Given the description of an element on the screen output the (x, y) to click on. 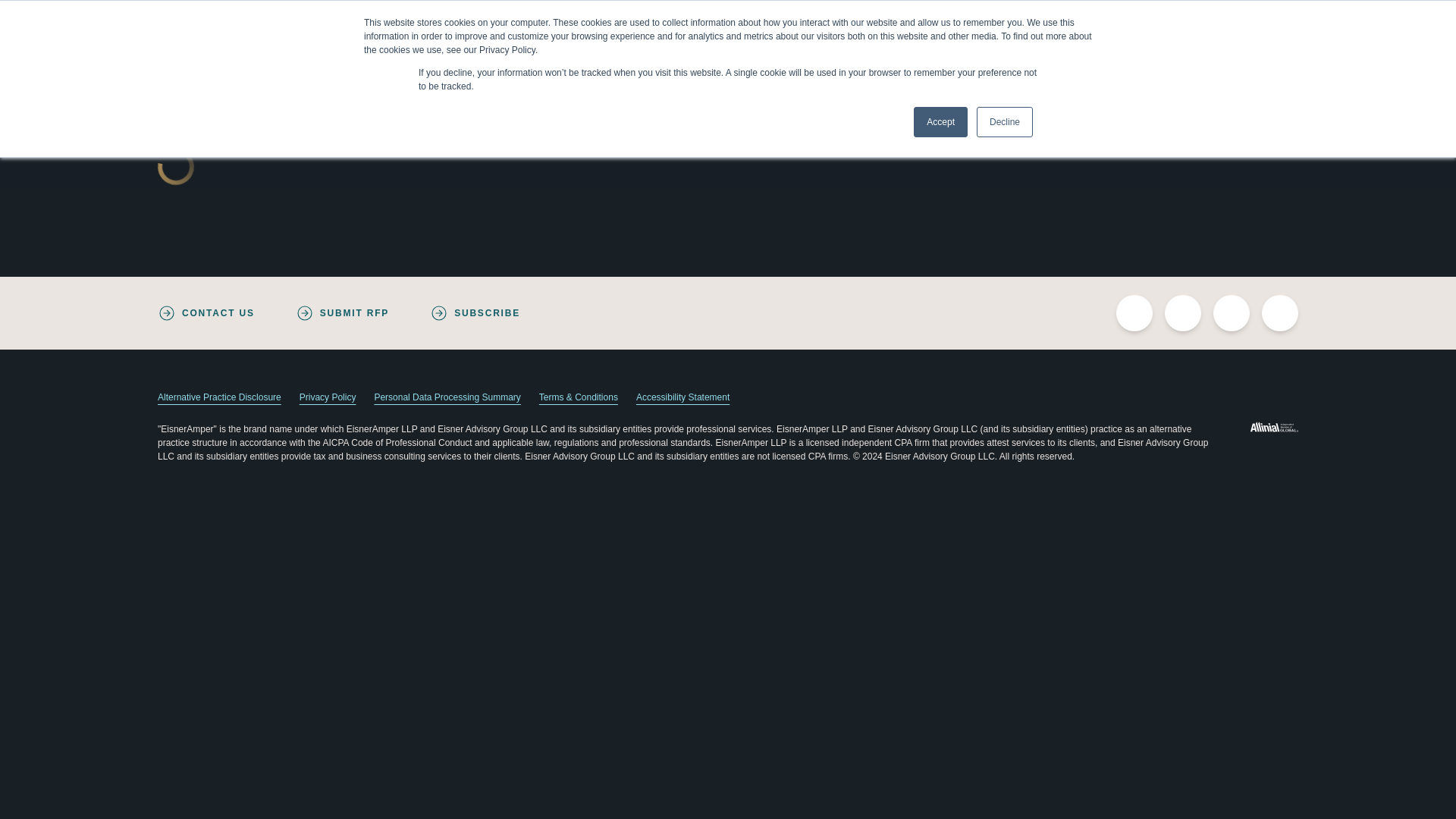
Careers (1104, 17)
Search (1263, 17)
Accept (941, 122)
Skip to content (12, 6)
EisnerAmper Home (259, 67)
Client Resources (1179, 17)
Contact Us (1043, 17)
Decline (1004, 122)
